Given the description of an element on the screen output the (x, y) to click on. 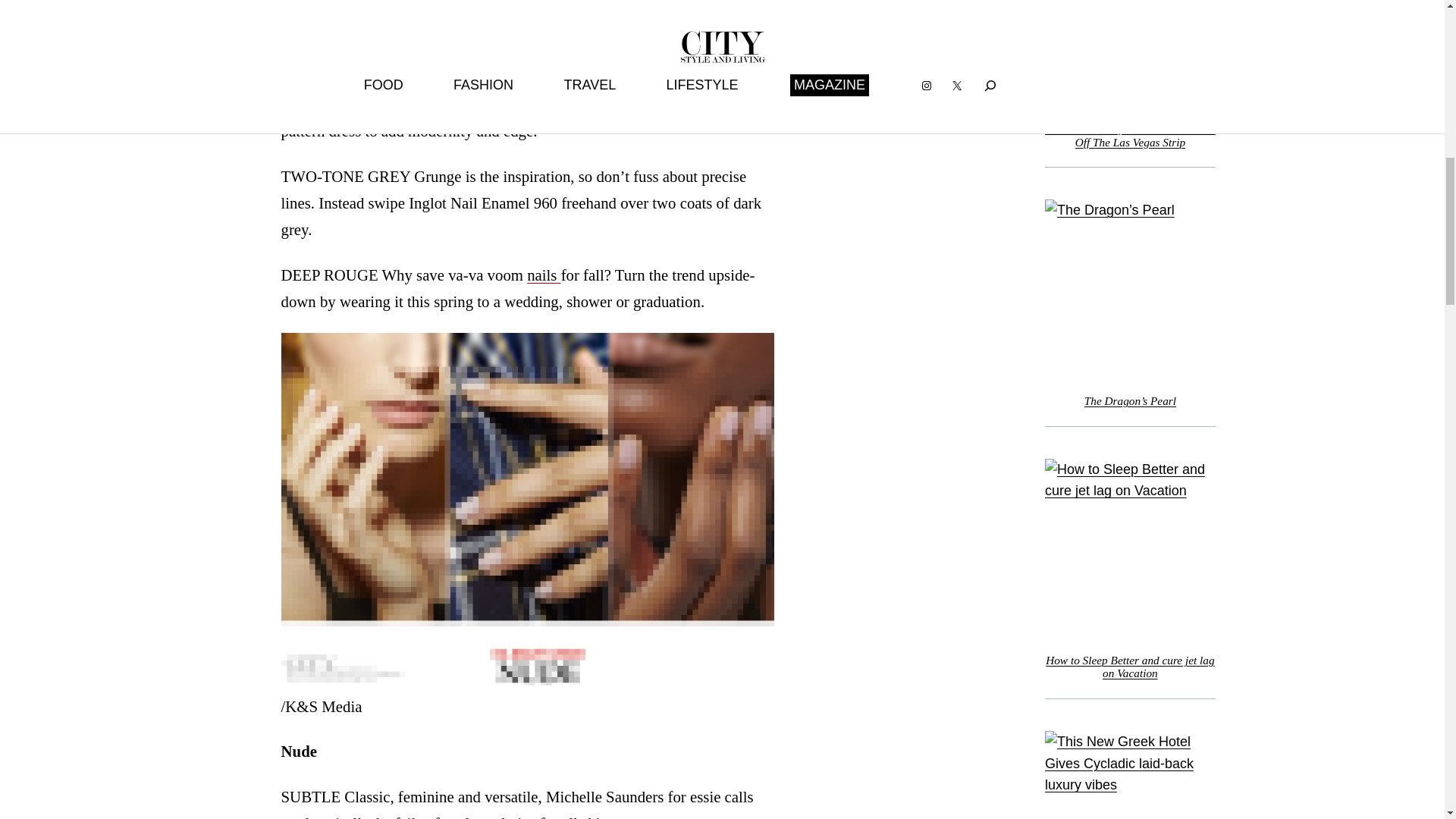
How to Choose your Own Adventure Off The Las Vegas Strip (1130, 135)
nails (543, 274)
How to Sleep Better and cure jet lag on Vacation (1130, 666)
